Given the description of an element on the screen output the (x, y) to click on. 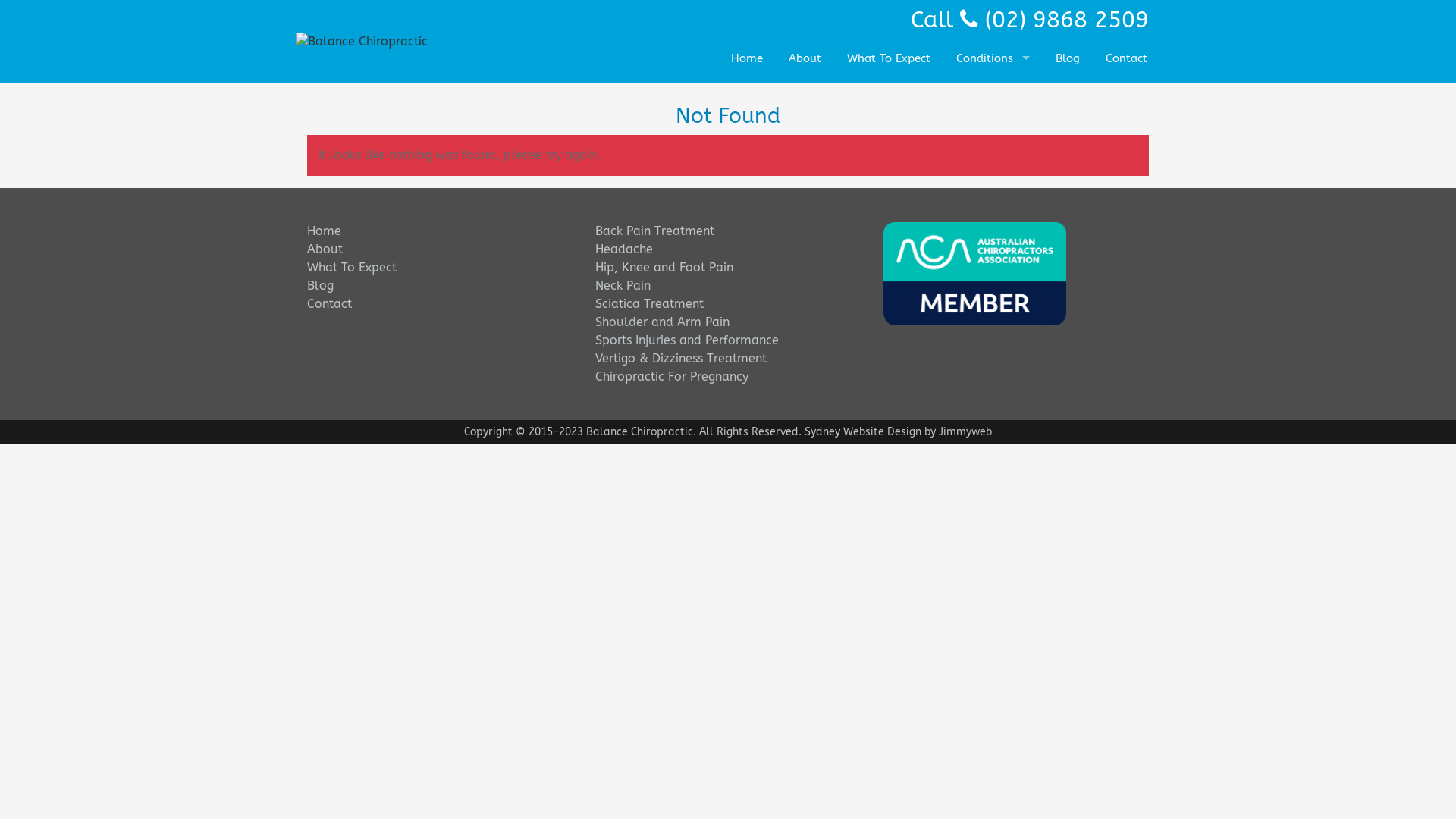
About Element type: text (324, 248)
Vertigo & Dizziness Treatment Element type: text (680, 358)
Back Pain Treatment Element type: text (654, 230)
Home Element type: text (745, 58)
Neck Pain Element type: text (622, 285)
Headache Element type: text (623, 248)
What To Expect Element type: text (888, 58)
Call (02) 9868 2509 Element type: text (1029, 19)
Sciatica Treatment Element type: text (649, 303)
Contact Element type: text (1126, 58)
Contact Element type: text (329, 303)
Shoulder and Arm Pain Element type: text (662, 321)
Conditions Element type: text (992, 58)
Sydney Website Design Element type: text (862, 431)
Sports Injuries and Performance Element type: text (686, 339)
Blog Element type: text (320, 285)
What To Expect Element type: text (351, 267)
Blog Element type: text (1067, 58)
About Element type: text (803, 58)
Chiropractic For Pregnancy Element type: text (671, 376)
Home Element type: text (324, 230)
Hip, Knee and Foot Pain Element type: text (664, 267)
